Given the description of an element on the screen output the (x, y) to click on. 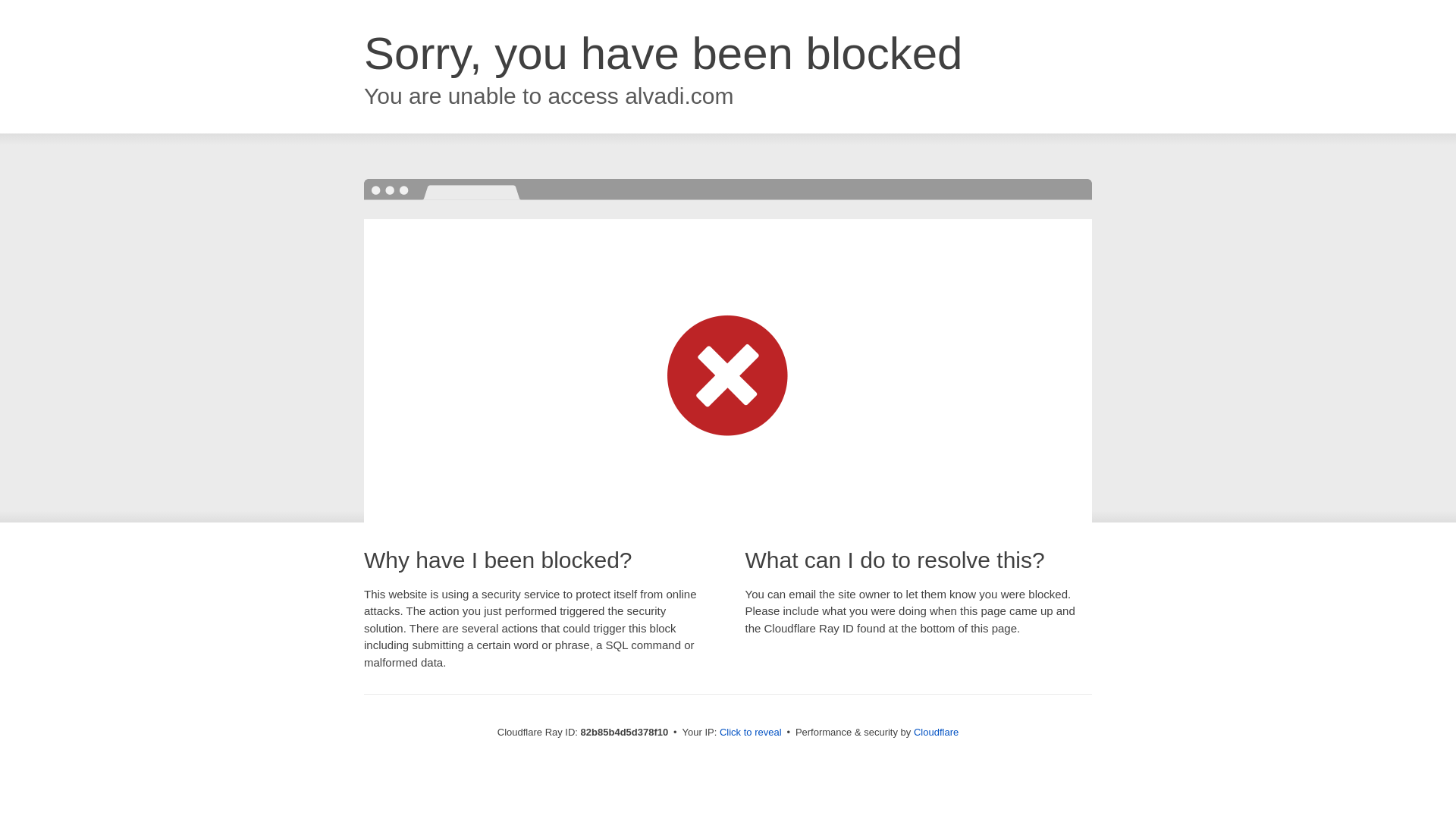
Click to reveal Element type: text (750, 732)
Cloudflare Element type: text (935, 731)
